Given the description of an element on the screen output the (x, y) to click on. 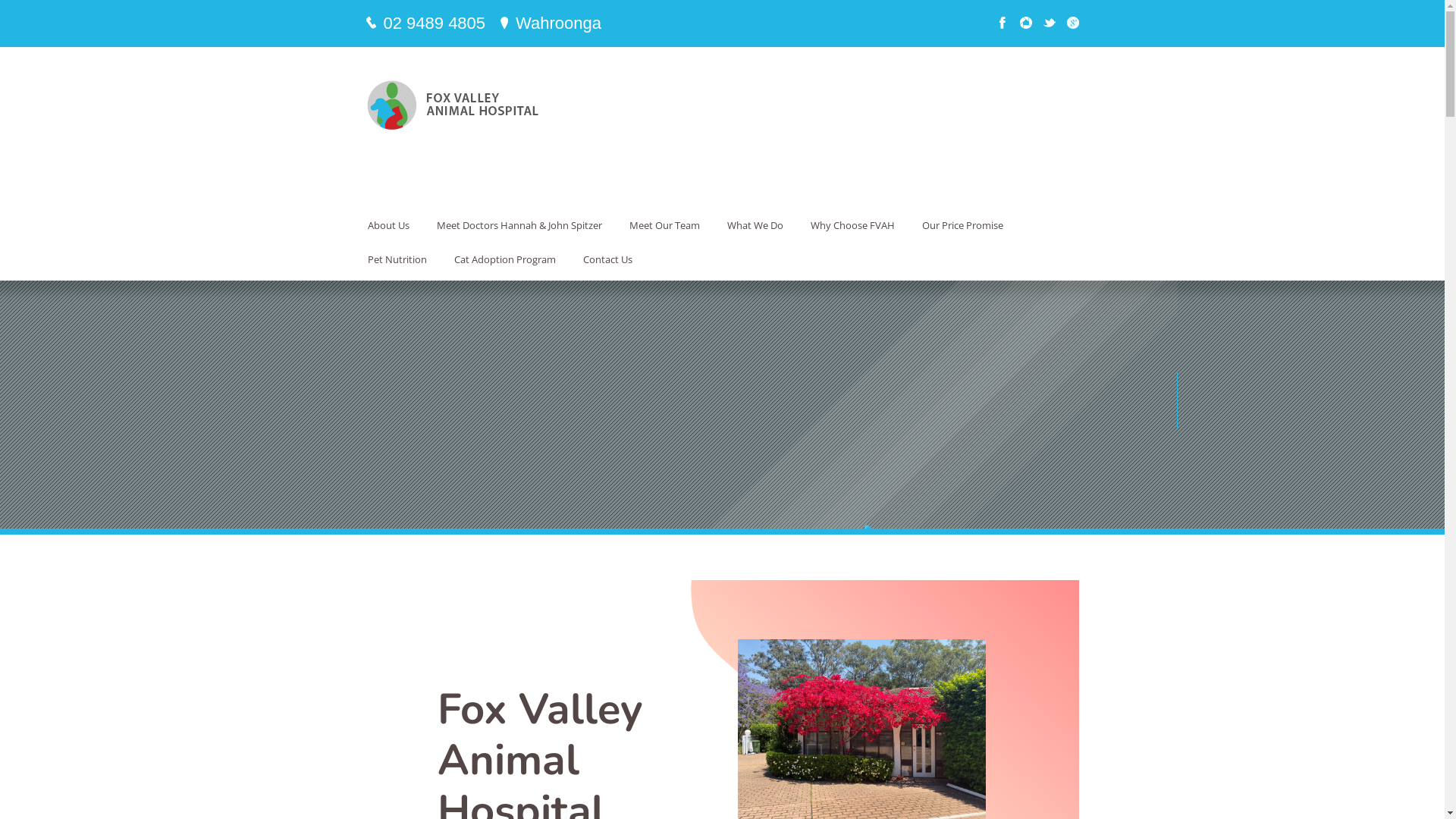
Our Price Promise Element type: text (961, 224)
Cat Adoption Program Element type: text (503, 259)
Contact Us Element type: text (606, 259)
About Us Element type: text (386, 224)
Meet Doctors Hannah & John Spitzer Element type: text (518, 224)
Meet Our Team Element type: text (663, 224)
Pet Nutrition Element type: text (395, 259)
Why Choose FVAH Element type: text (850, 224)
02 9489 4805 Element type: text (434, 22)
What We Do Element type: text (753, 224)
